Given the description of an element on the screen output the (x, y) to click on. 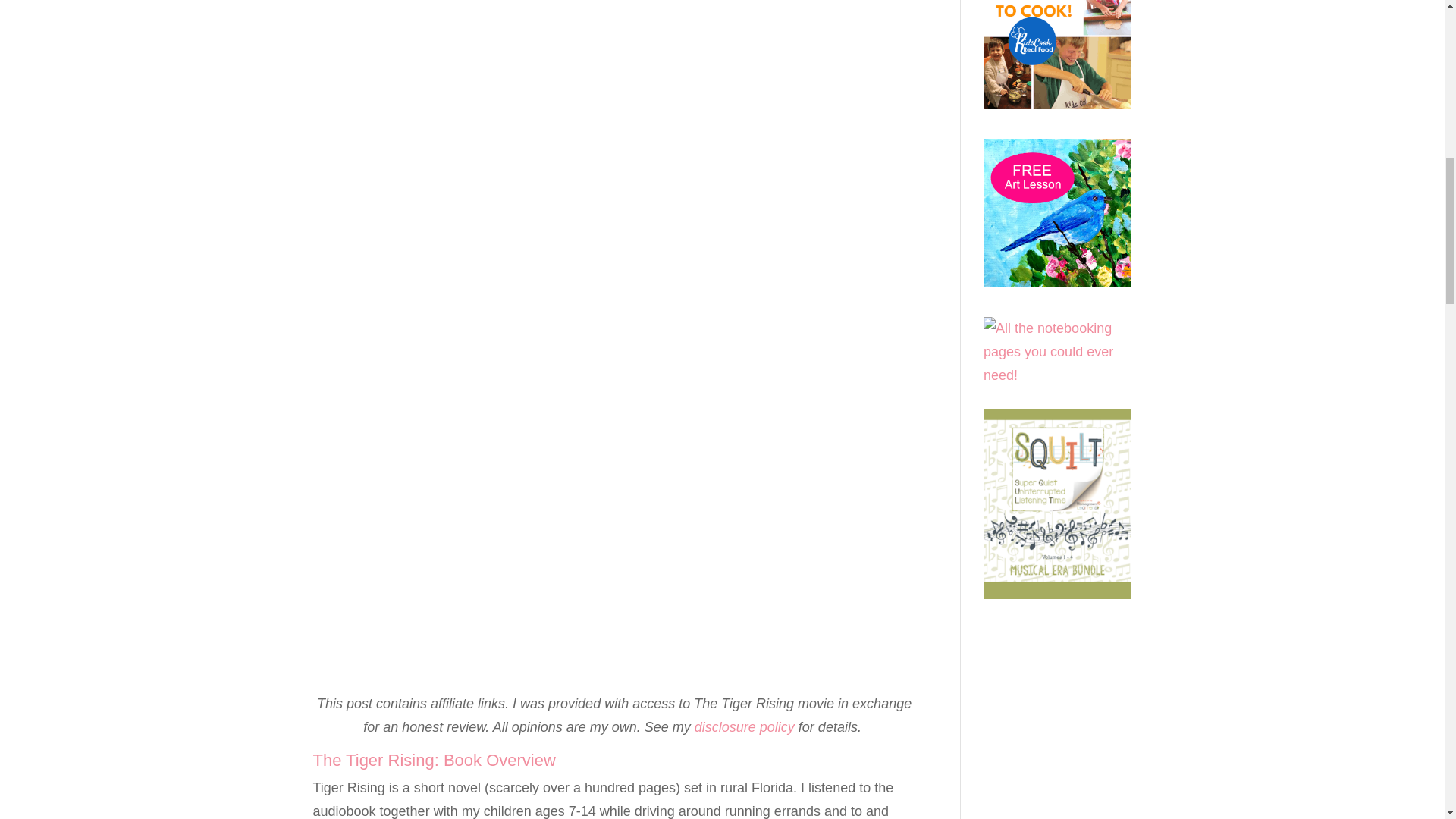
disclosure policy (744, 726)
